Given the description of an element on the screen output the (x, y) to click on. 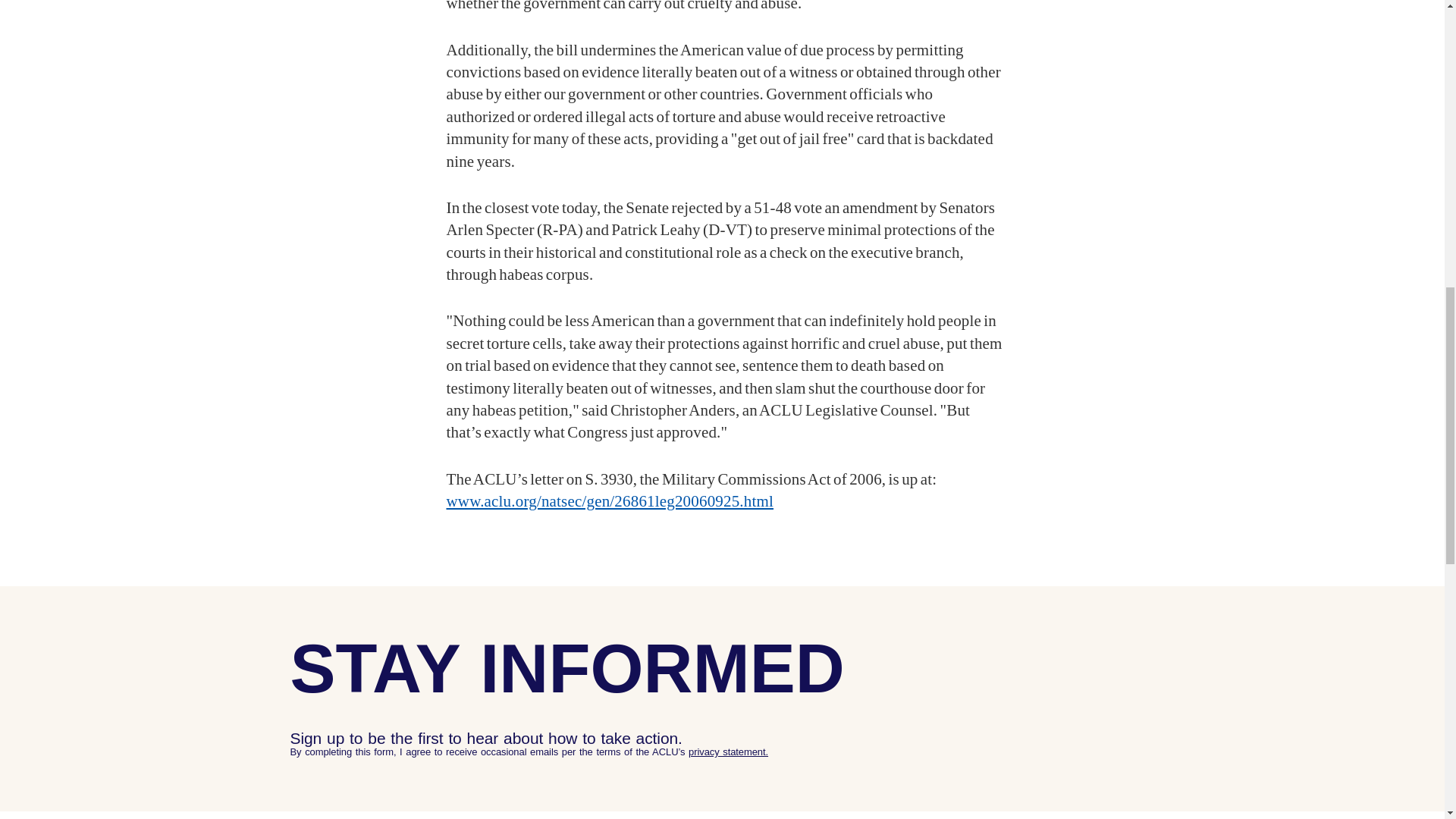
privacy statement. (728, 751)
